Given the description of an element on the screen output the (x, y) to click on. 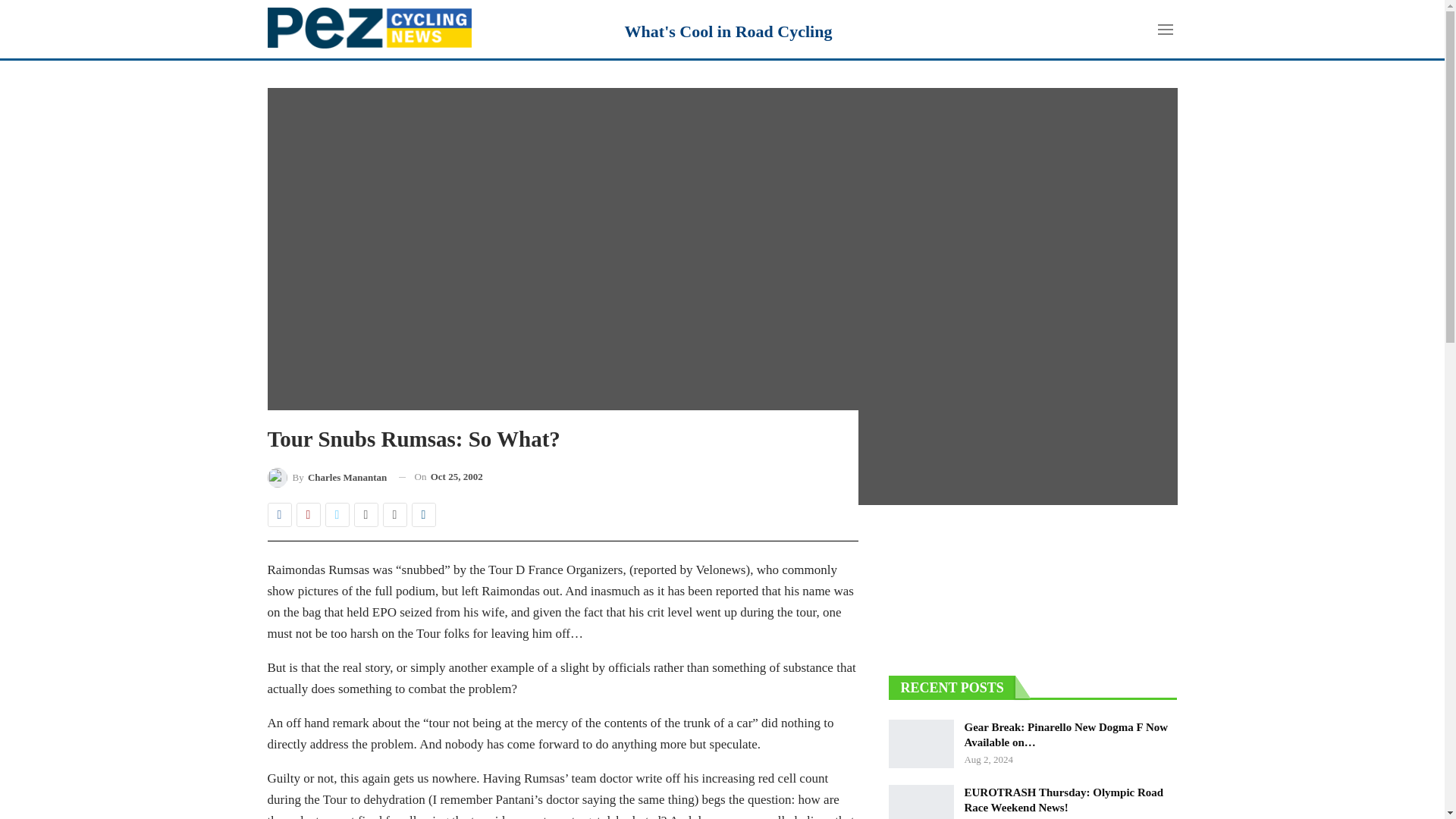
Browse Author Articles (326, 476)
By Charles Manantan (326, 476)
